Given the description of an element on the screen output the (x, y) to click on. 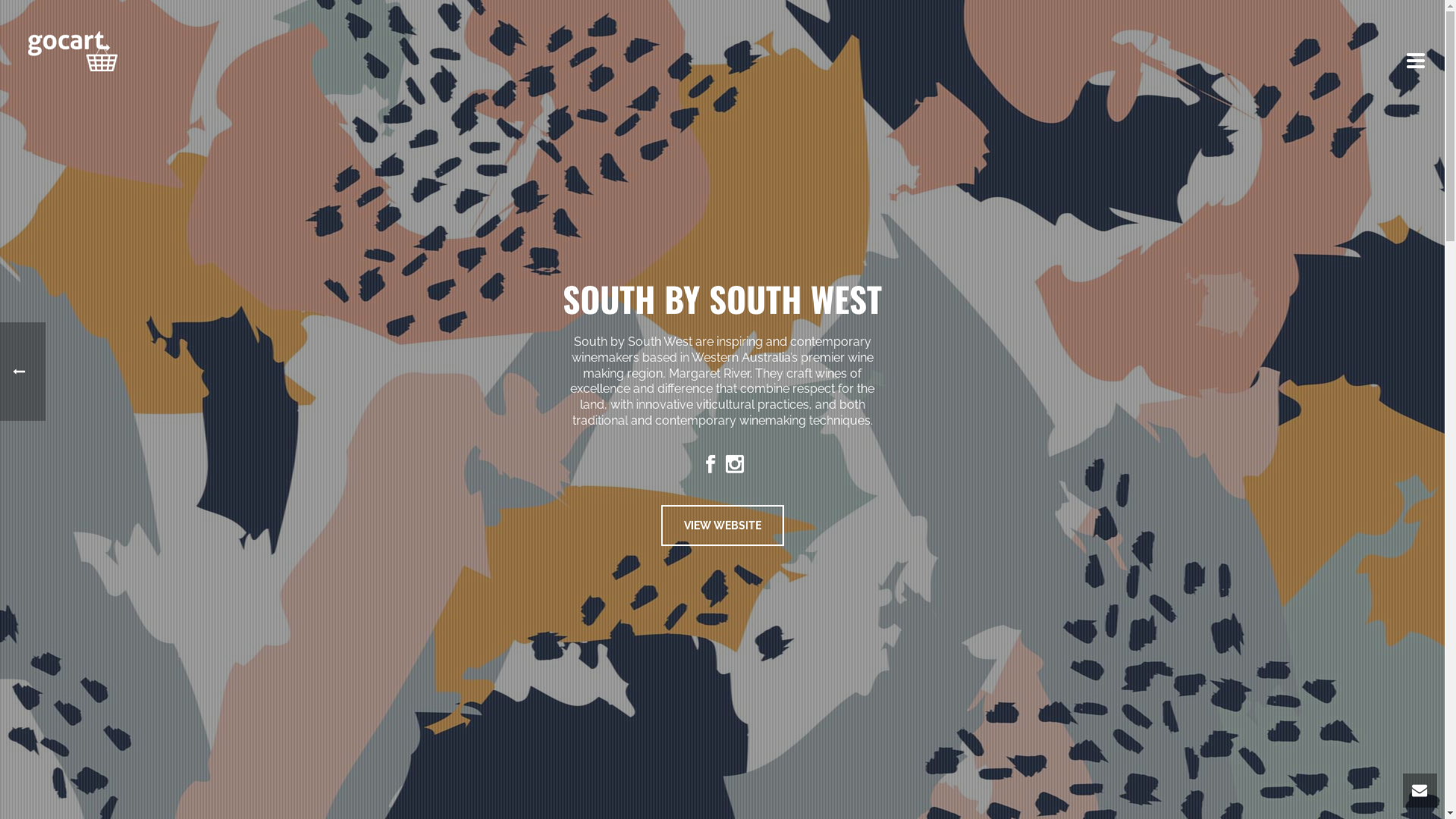
VIEW WEBSITE Element type: text (722, 525)
SOUTH BY SOUTH WEST Element type: text (721, 298)
